Given the description of an element on the screen output the (x, y) to click on. 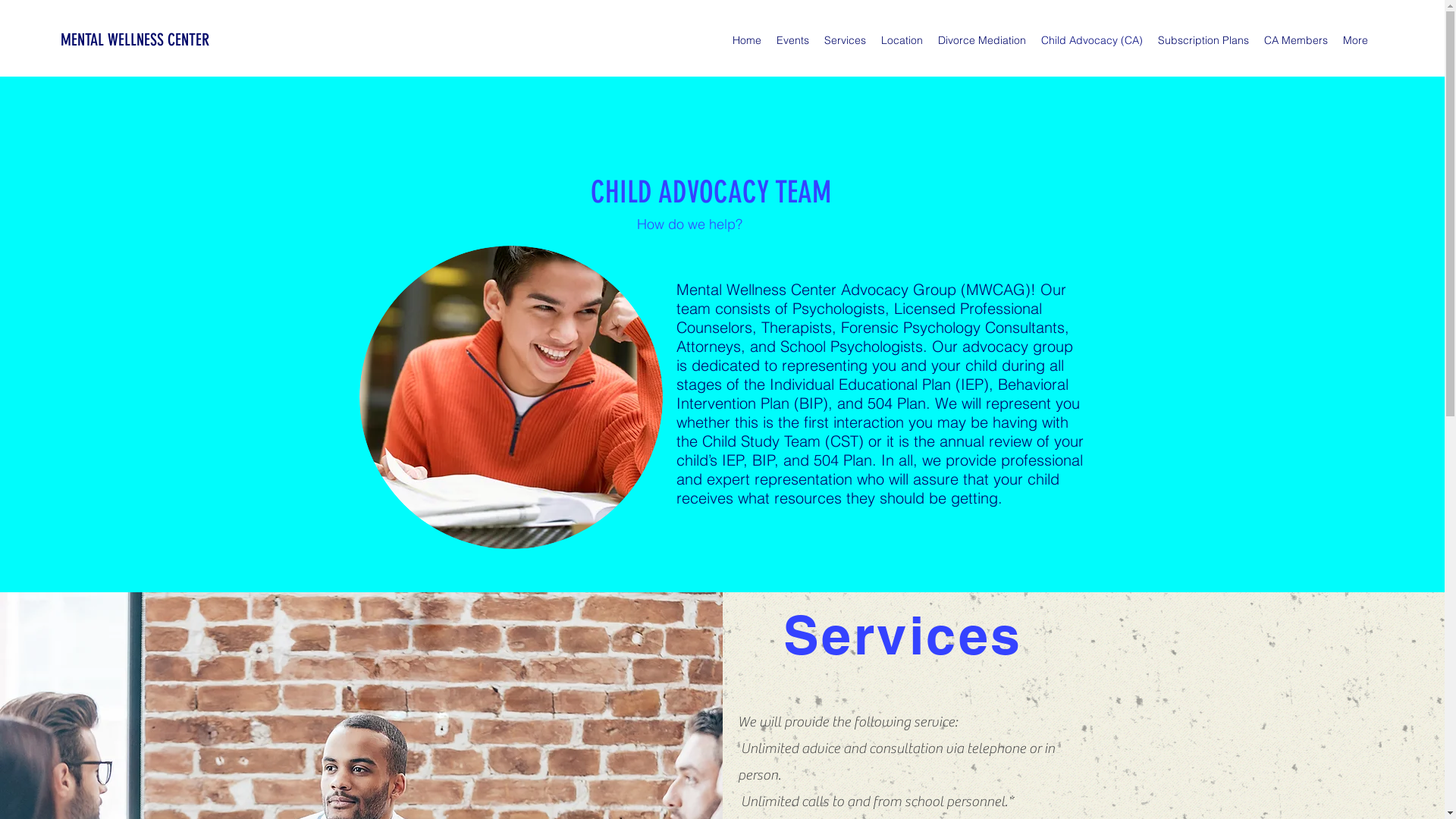
MENTAL WELLNESS CENTER Element type: text (134, 39)
Subscription Plans Element type: text (1203, 39)
Child Advocacy (CA) Element type: text (1091, 39)
Services Element type: text (844, 39)
CA Members Element type: text (1295, 39)
Divorce Mediation Element type: text (981, 39)
Home Element type: text (746, 39)
Events Element type: text (792, 39)
Location Element type: text (901, 39)
